Given the description of an element on the screen output the (x, y) to click on. 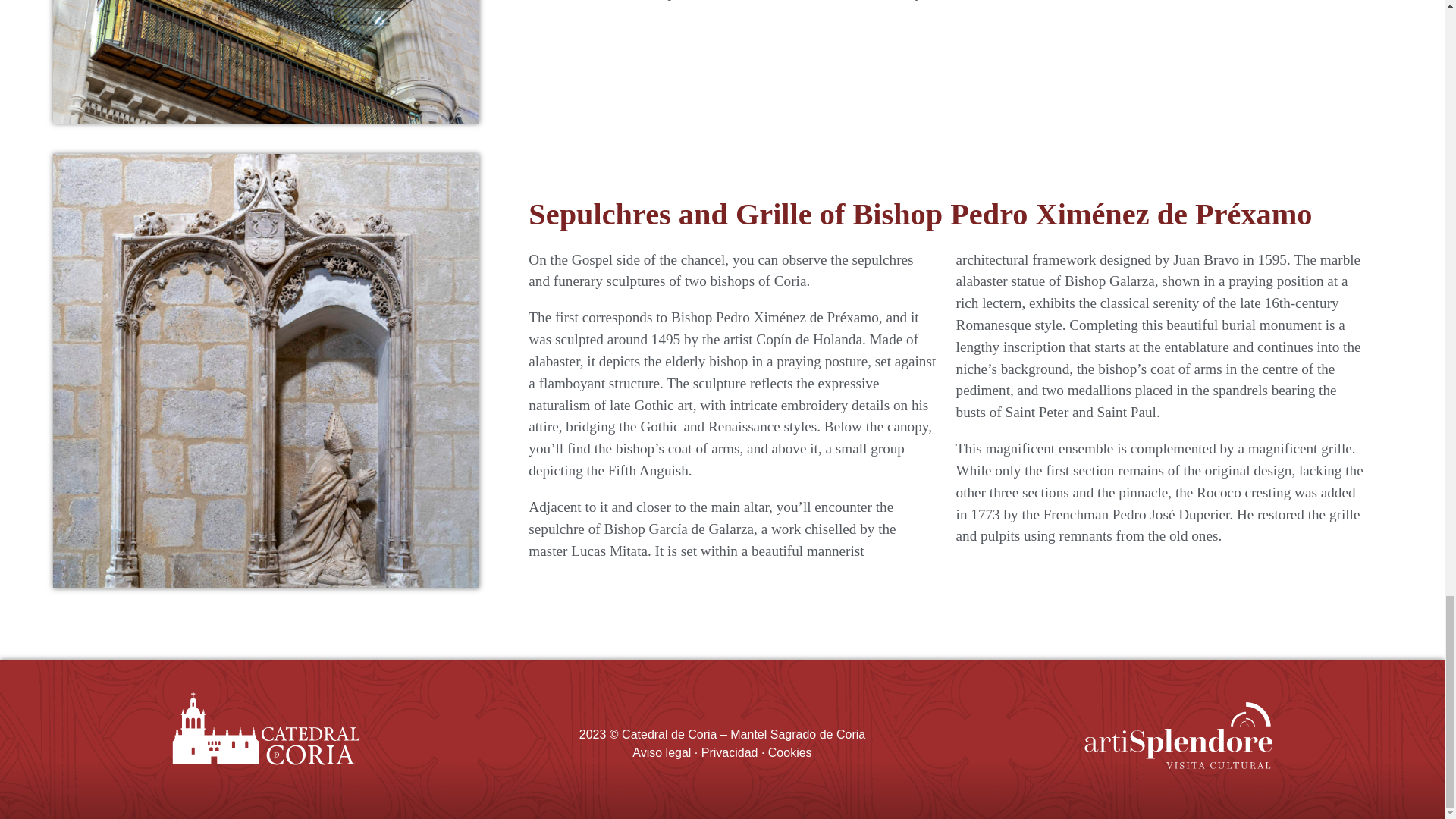
Aviso legal (660, 752)
Cookies (790, 752)
Privacidad (729, 752)
